Given the description of an element on the screen output the (x, y) to click on. 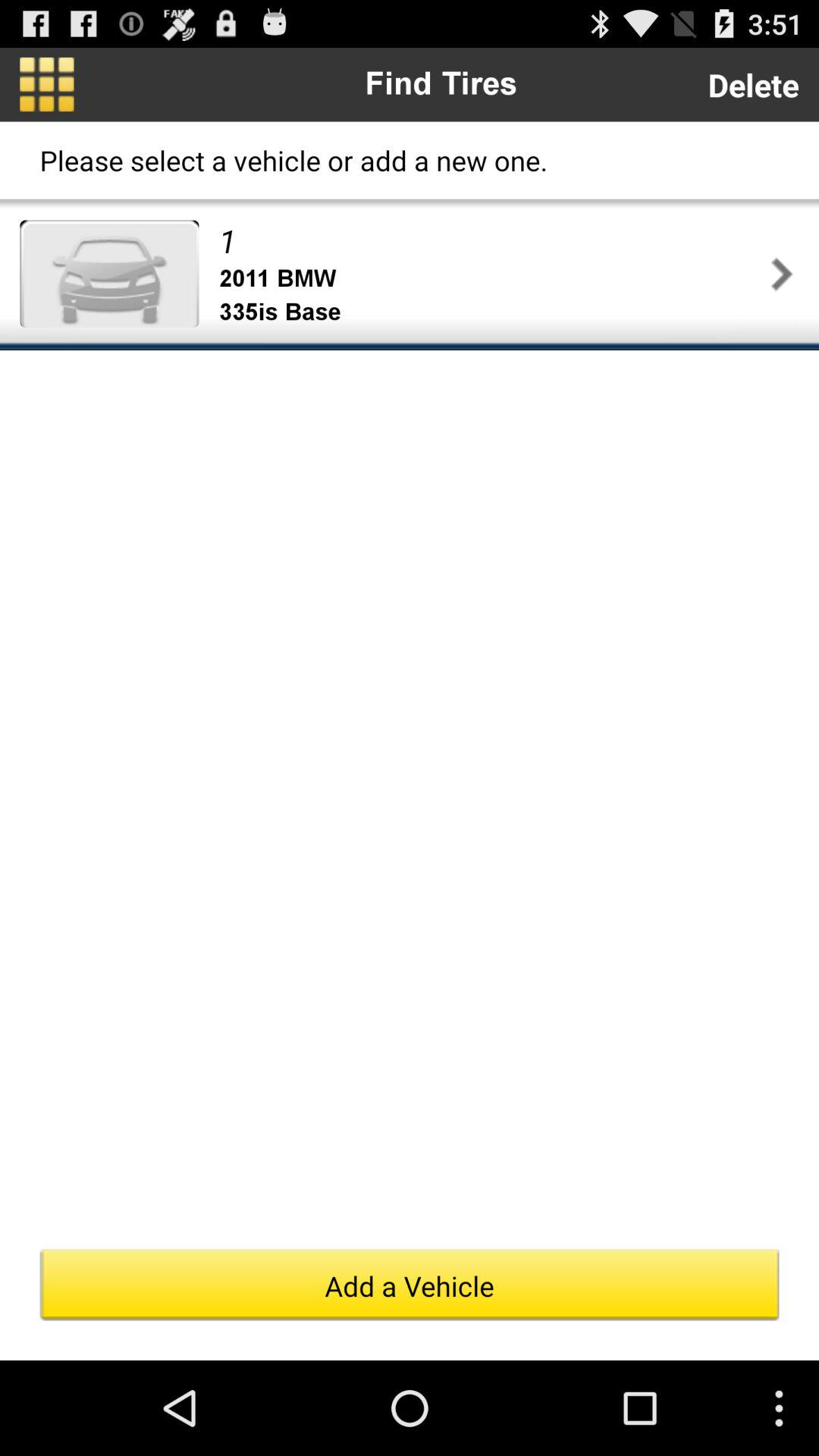
launch 1 app (491, 240)
